Given the description of an element on the screen output the (x, y) to click on. 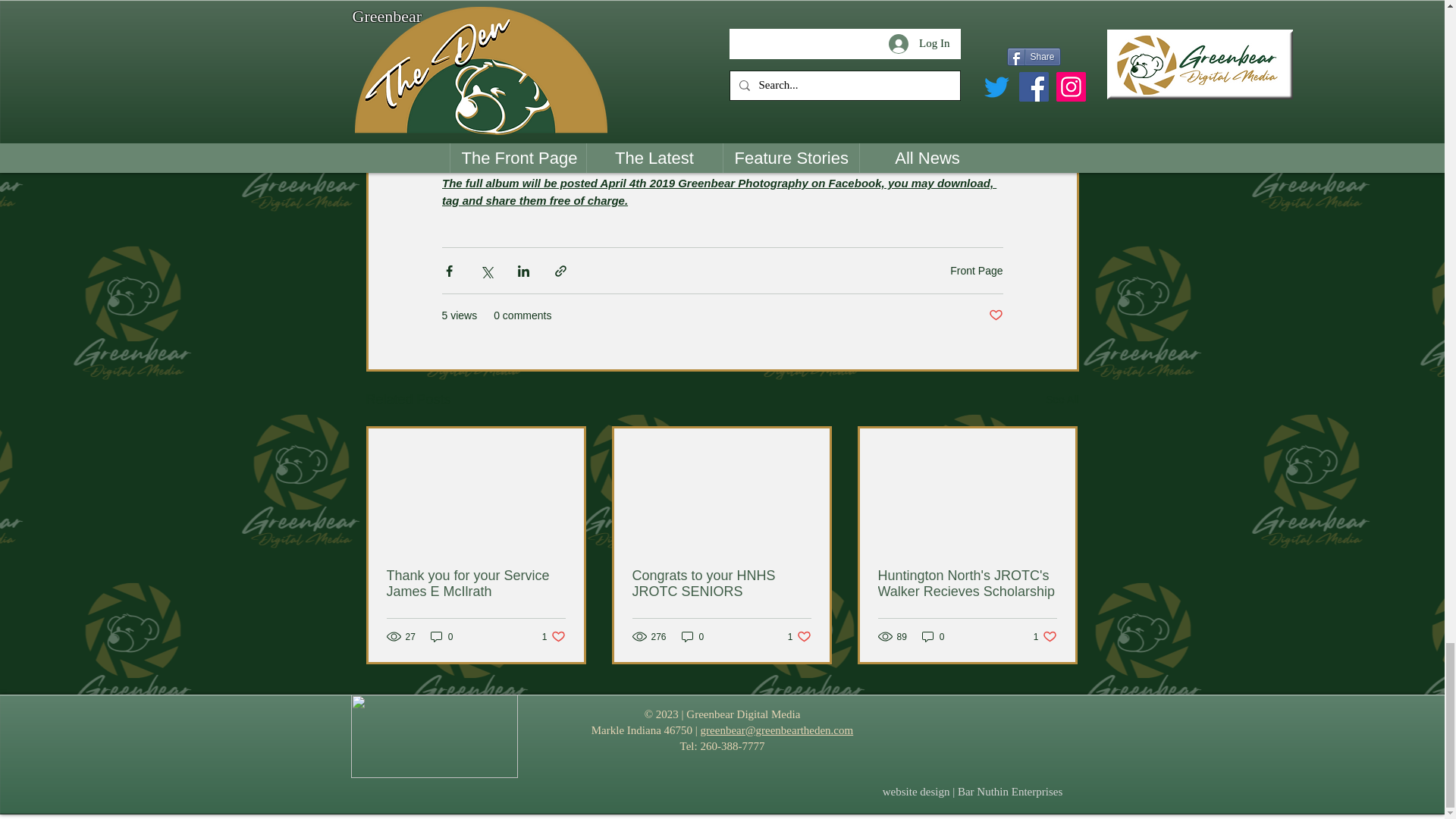
Greenbear Webiste Header.png (433, 736)
See All (553, 636)
Post not marked as liked (1061, 400)
Thank you for your Service James E McIlrath (995, 315)
0 (798, 636)
Congrats to your HNHS JROTC SENIORS (476, 583)
Front Page (692, 636)
0 (720, 583)
